Given the description of an element on the screen output the (x, y) to click on. 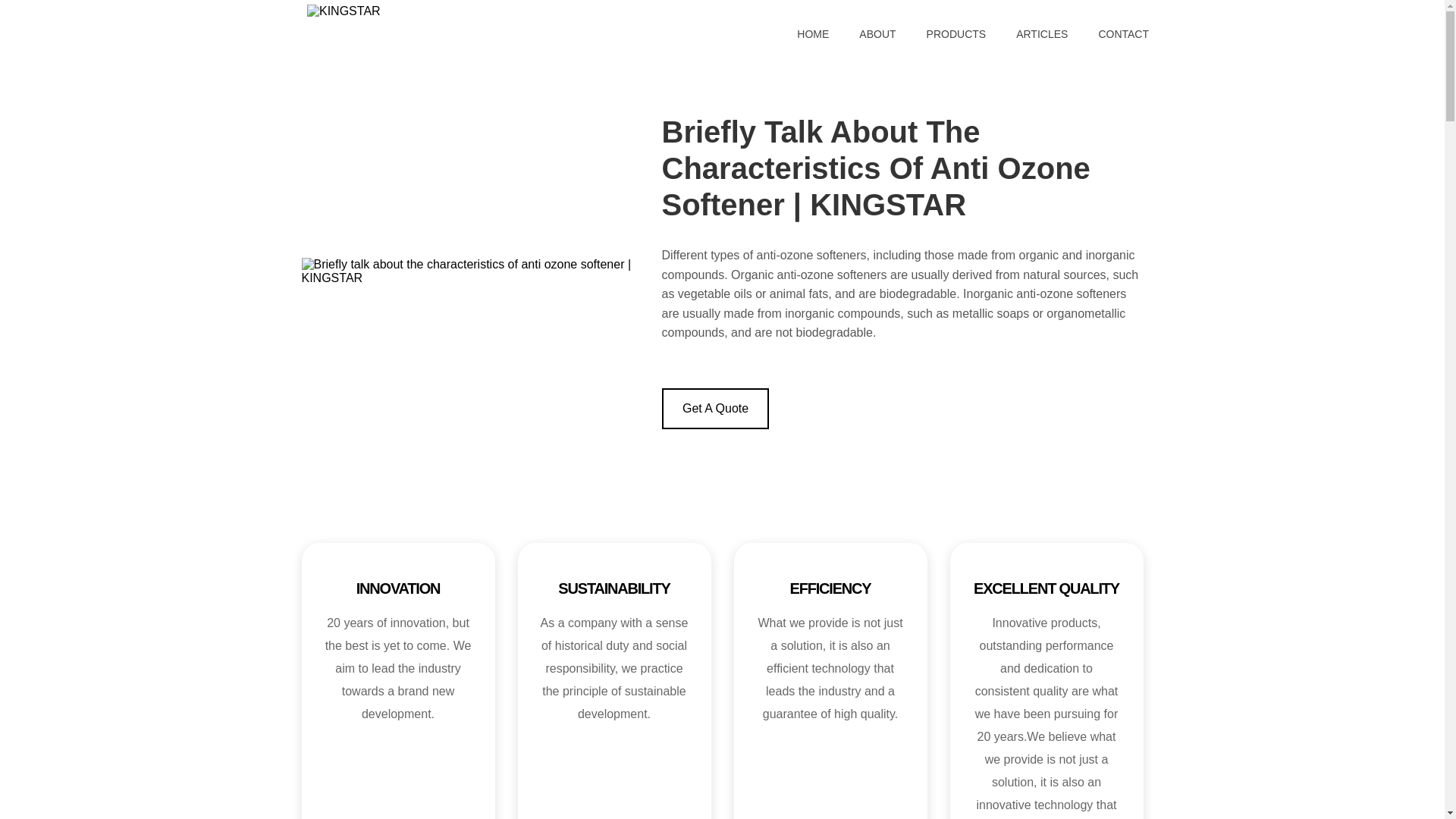
HOME (812, 33)
ABOUT (877, 33)
ARTICLES (1042, 33)
CONTACT (1115, 33)
Get A Quote (714, 408)
PRODUCTS (956, 33)
Get A Quote (714, 408)
Back To Home (343, 10)
